Given the description of an element on the screen output the (x, y) to click on. 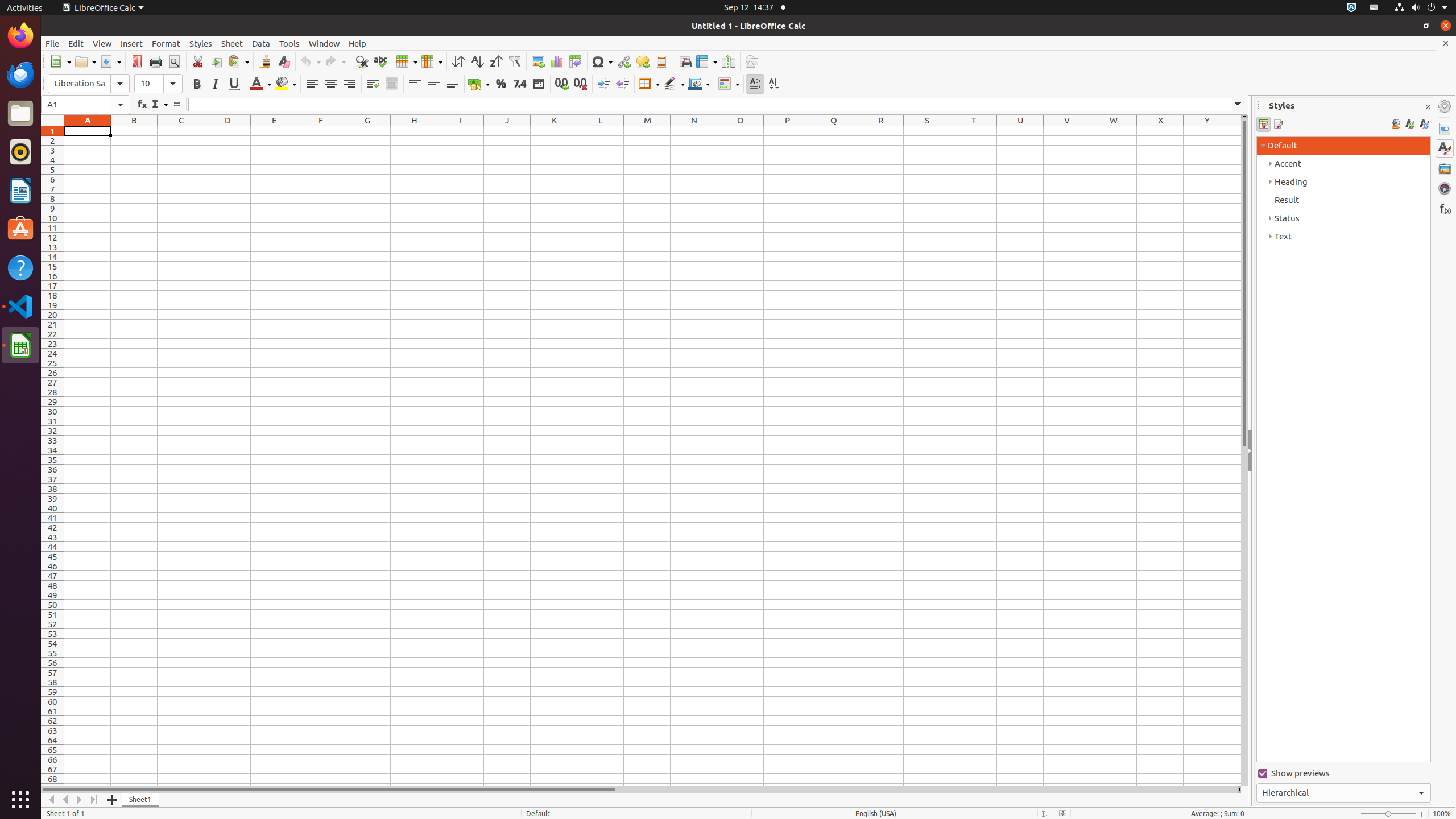
Tools Element type: menu (289, 43)
Align Bottom Element type: push-button (452, 83)
Border Color Element type: push-button (698, 83)
Font Size Element type: combo-box (158, 83)
Save Element type: push-button (109, 61)
